Given the description of an element on the screen output the (x, y) to click on. 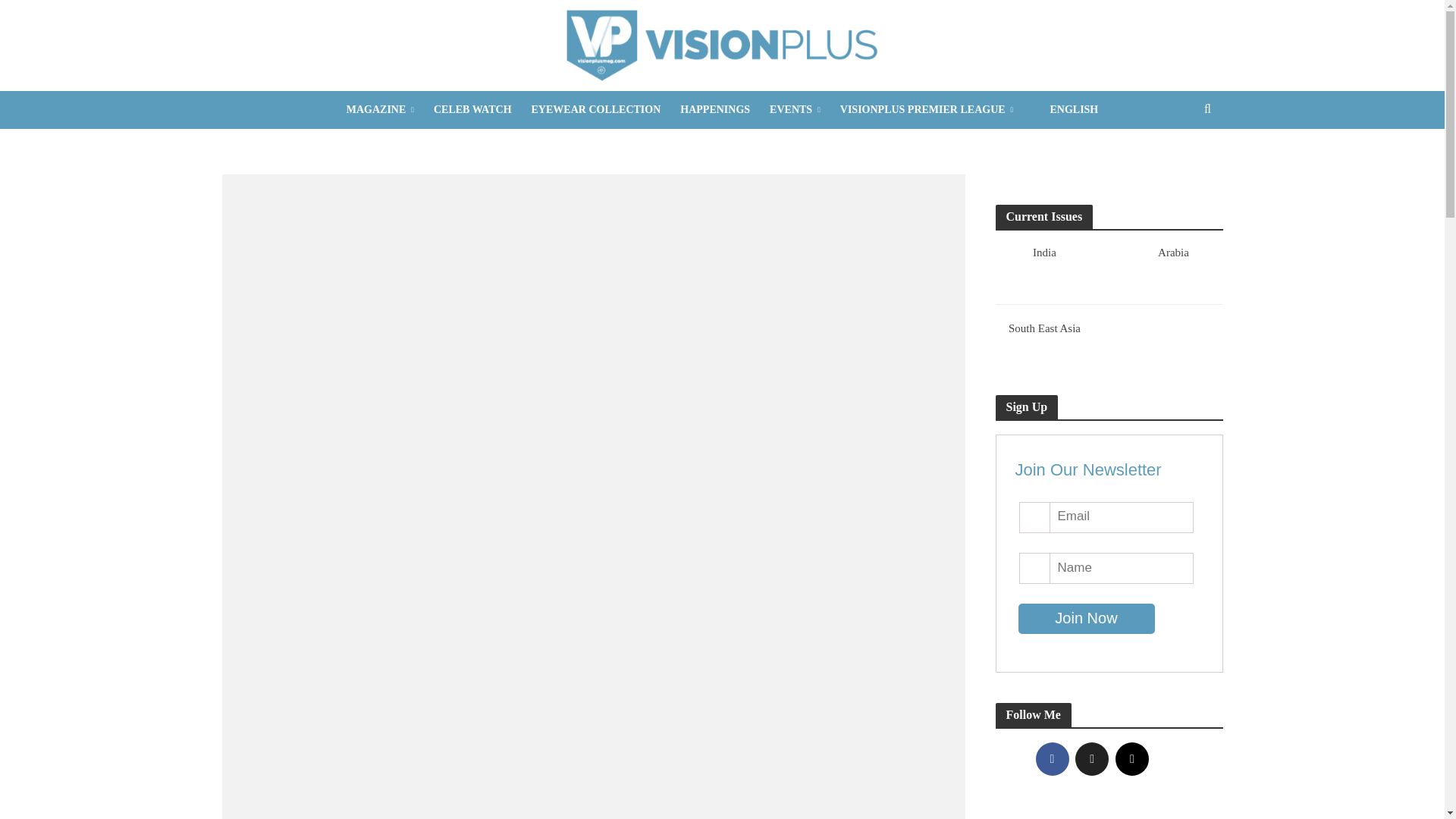
English (1065, 109)
HAPPENINGS (714, 109)
ENGLISH (1065, 109)
MAGAZINE (379, 109)
VISIONPLUS PREMIER LEAGUE (926, 109)
Facebook (1051, 758)
EYEWEAR COLLECTION (596, 109)
CELEB WATCH (472, 109)
EVENTS (794, 109)
Instagram (1131, 758)
